Given the description of an element on the screen output the (x, y) to click on. 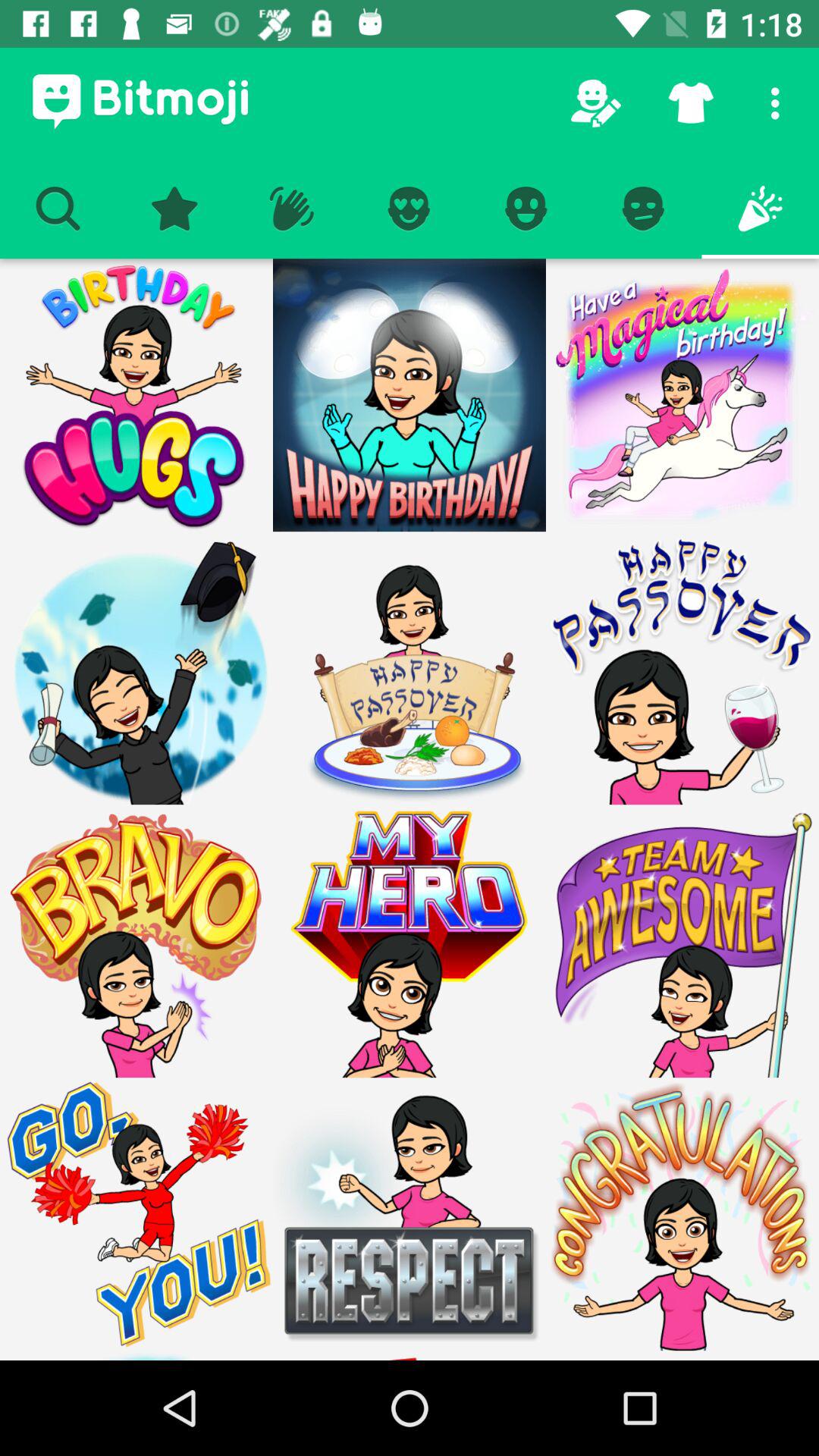
click to congratulations image (682, 1213)
